Given the description of an element on the screen output the (x, y) to click on. 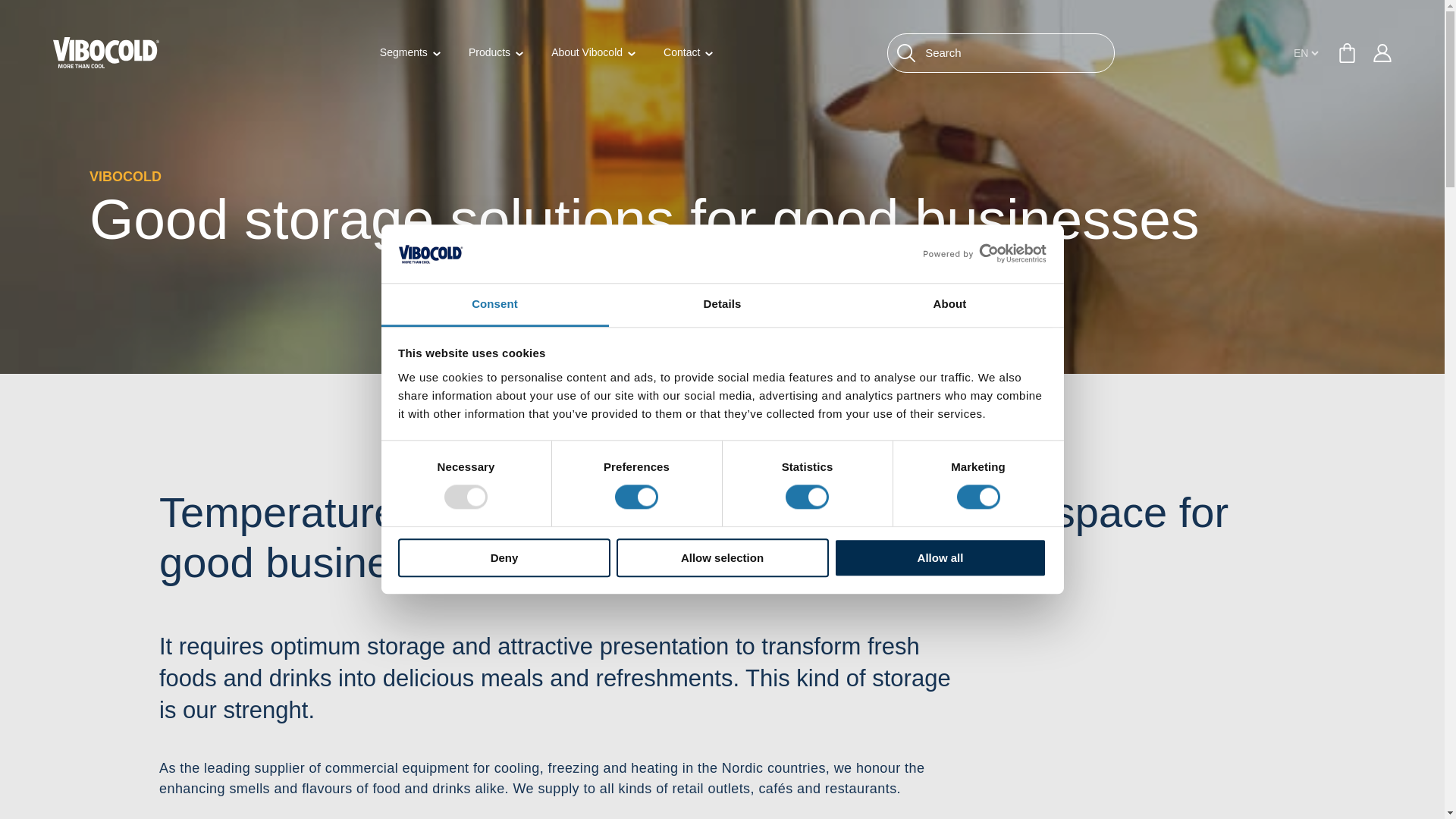
Consent (494, 304)
Details (721, 304)
About (948, 304)
